Given the description of an element on the screen output the (x, y) to click on. 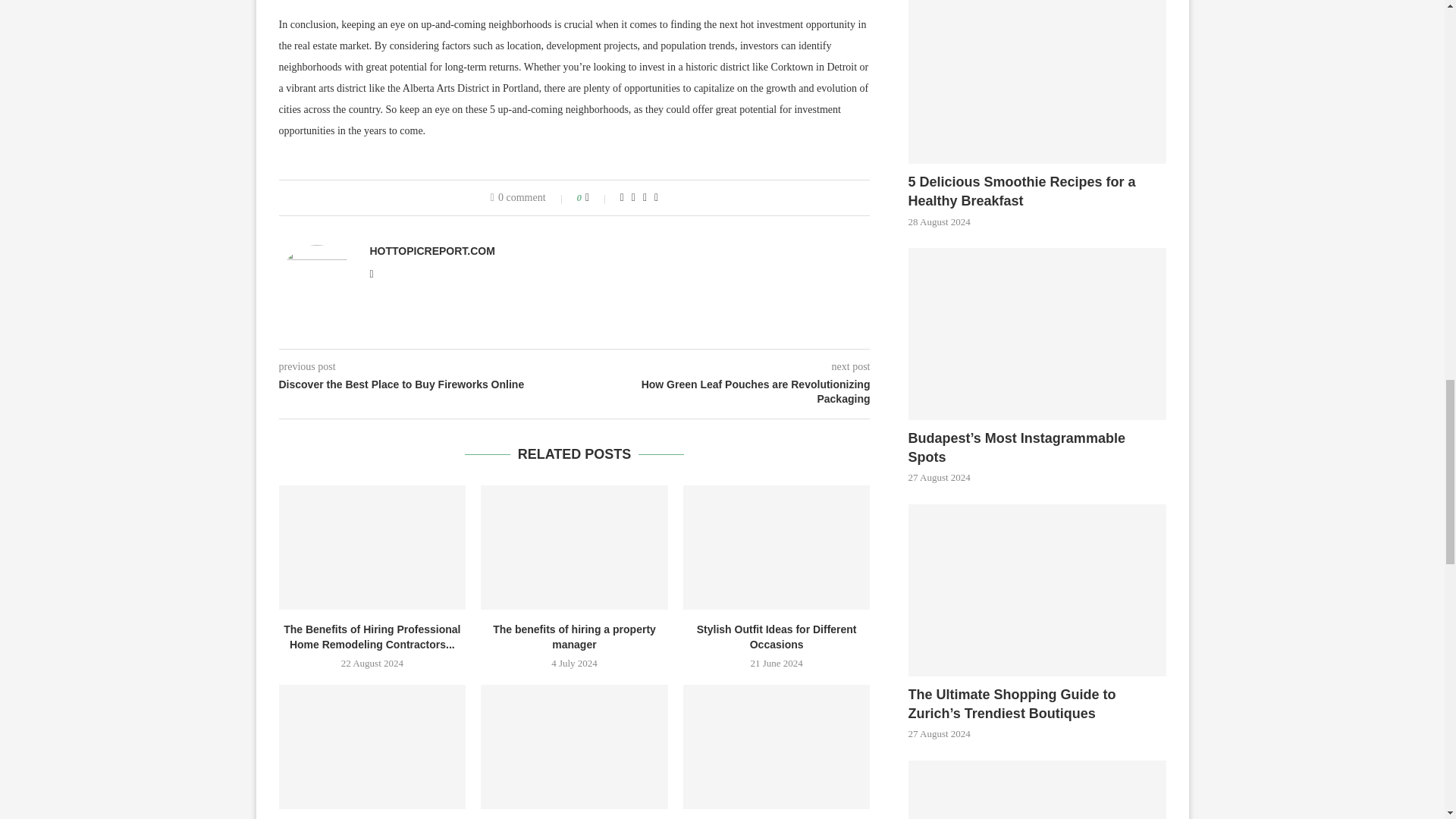
The benefits of hiring a property manager (574, 547)
The Benefits of Investing in Rental Properties (372, 746)
The future of sustainable properties (574, 746)
Stylish Outfit Ideas for Different Occasions (776, 547)
Author hottopicreport.com (432, 250)
5 Delicious Smoothie Recipes for a Healthy Breakfast (1037, 82)
Like (597, 197)
Tips for Negotiating a Fair Price When Buying a Home (776, 746)
